Given the description of an element on the screen output the (x, y) to click on. 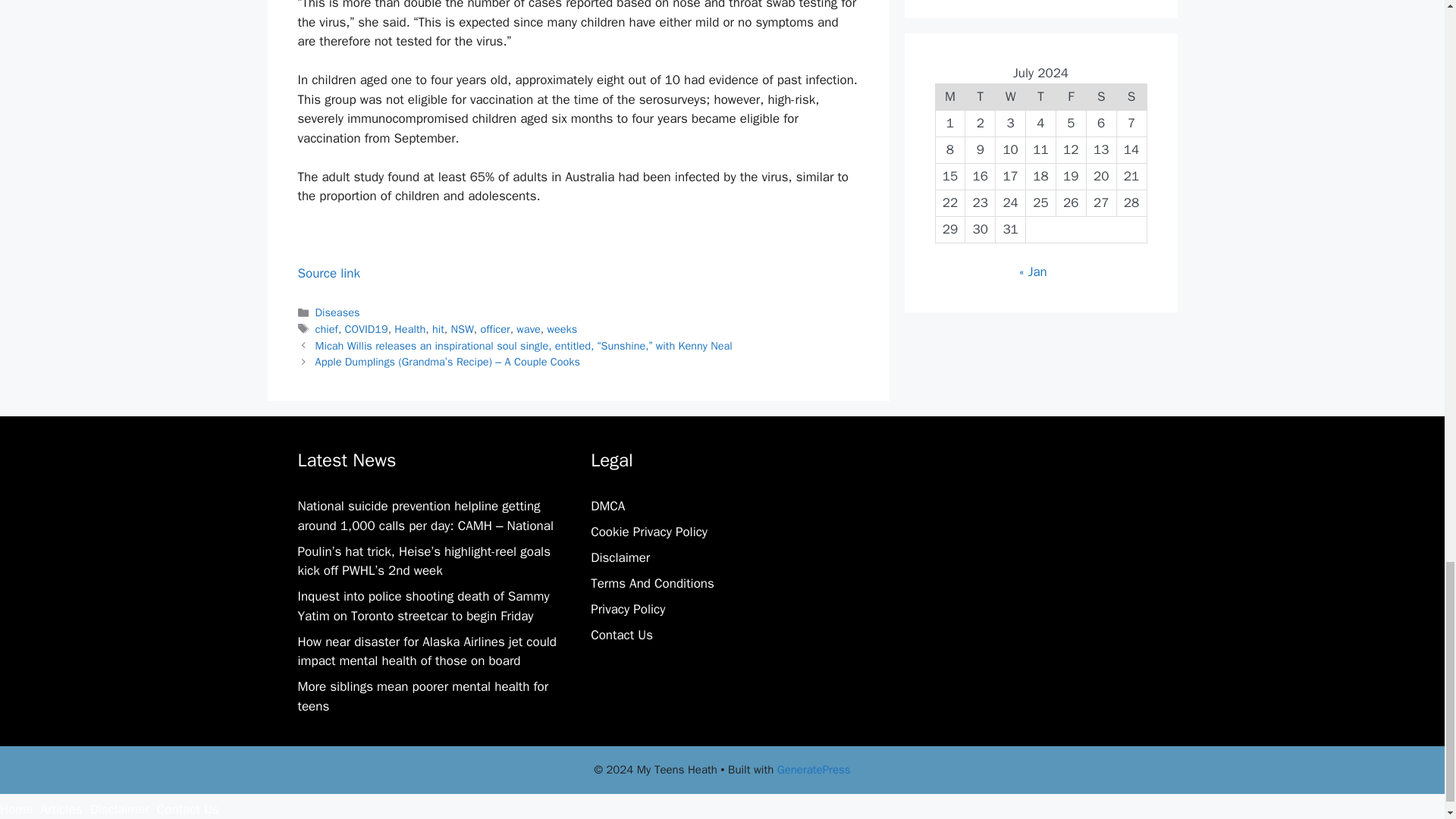
Source link (328, 273)
Sunday (1131, 96)
Thursday (1041, 96)
officer (494, 328)
Monday (949, 96)
wave (528, 328)
Wednesday (1010, 96)
chief (326, 328)
hit (438, 328)
Diseases (337, 312)
Tuesday (980, 96)
COVID19 (366, 328)
Health (409, 328)
Friday (1070, 96)
Saturday (1101, 96)
